Given the description of an element on the screen output the (x, y) to click on. 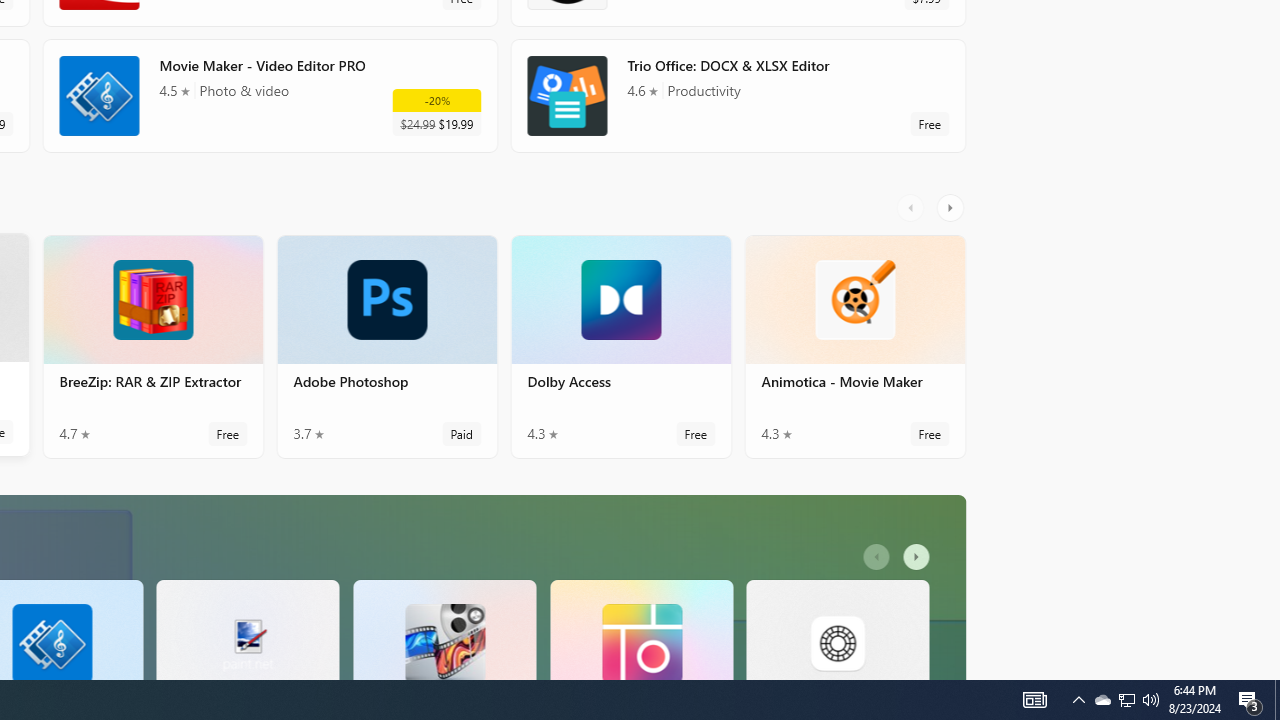
Vertical Small Increase (1272, 672)
iCloud. Average rating of 2.7 out of five stars. Free   (737, 79)
AutomationID: RightScrollButton (919, 659)
Vertical Large Increase (1272, 409)
Discord. Average rating of 4.2 out of five stars. Free   (269, 79)
AutomationID: LeftScrollButton (878, 659)
Files App. Average rating of 4.2 out of five stars. $8.99   (152, 456)
